Given the description of an element on the screen output the (x, y) to click on. 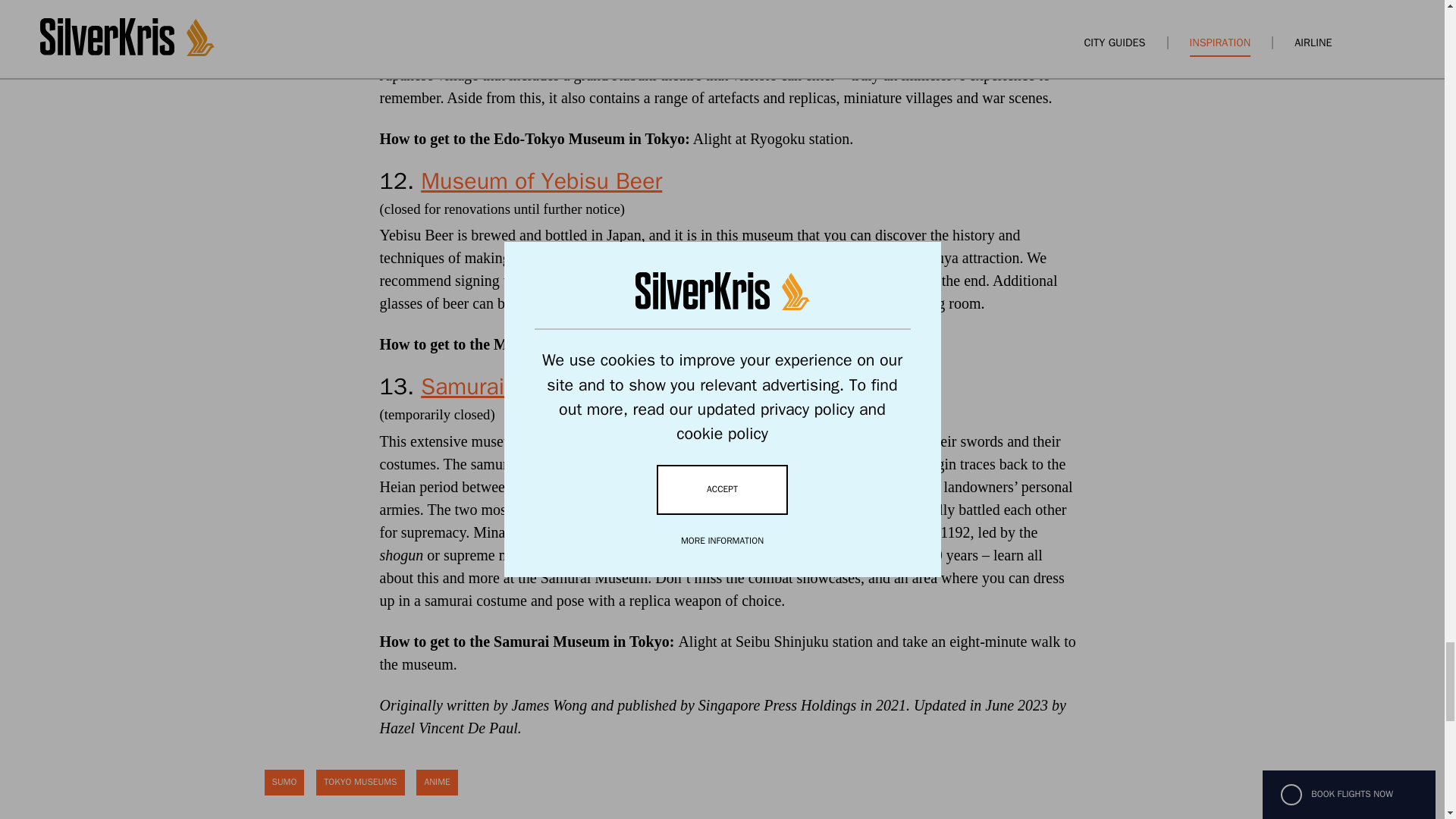
Museum of Yebisu Beer (541, 181)
SUMO (283, 782)
ANIME (436, 782)
Samurai Museum (509, 386)
TOKYO MUSEUMS (359, 782)
